Given the description of an element on the screen output the (x, y) to click on. 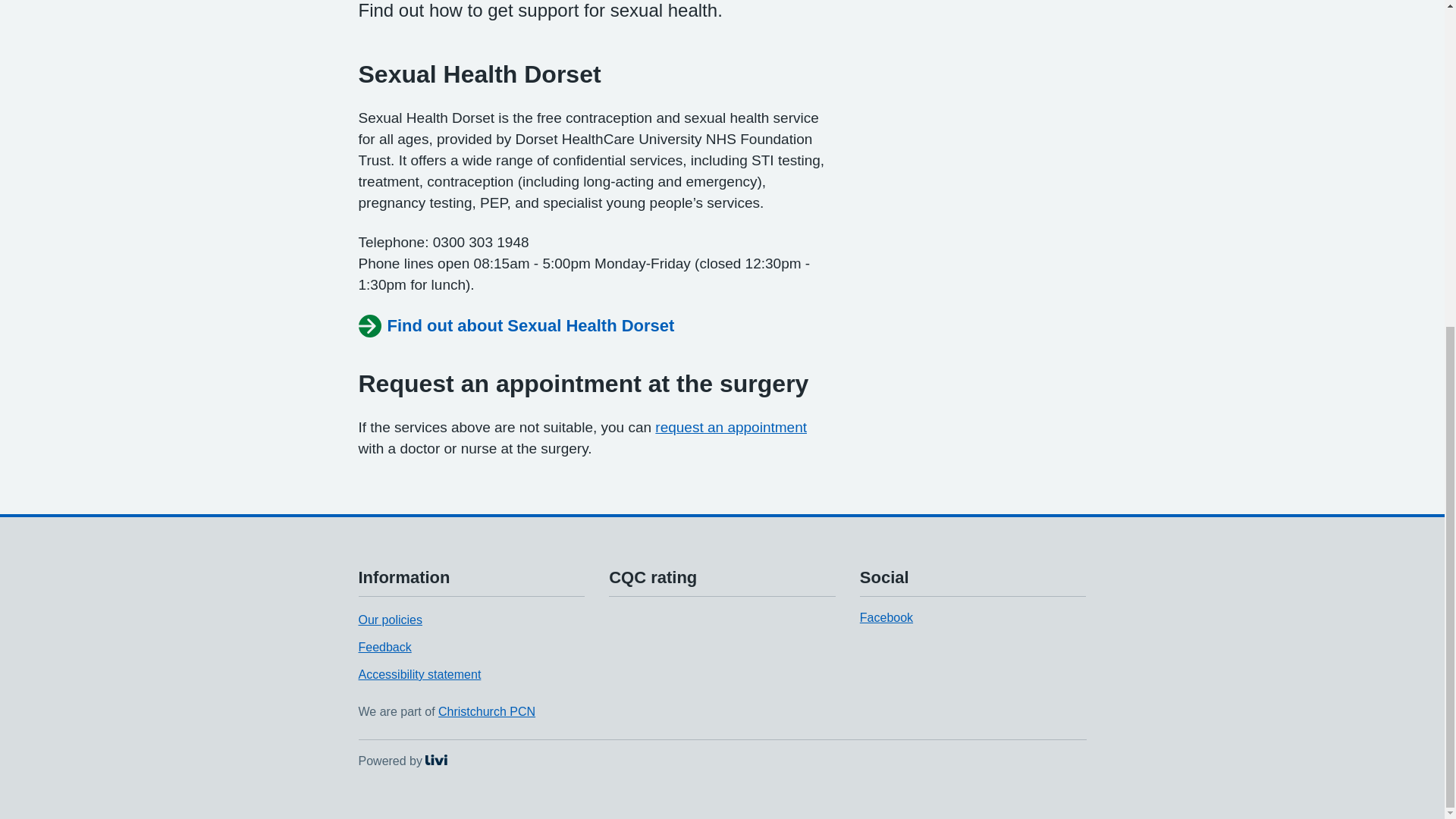
Find out about Sexual Health Dorset (516, 325)
Christchurch PCN (486, 711)
request an appointment (730, 426)
Our policies (390, 619)
Feedback (384, 646)
Facebook (886, 617)
Accessibility statement (402, 760)
